Given the description of an element on the screen output the (x, y) to click on. 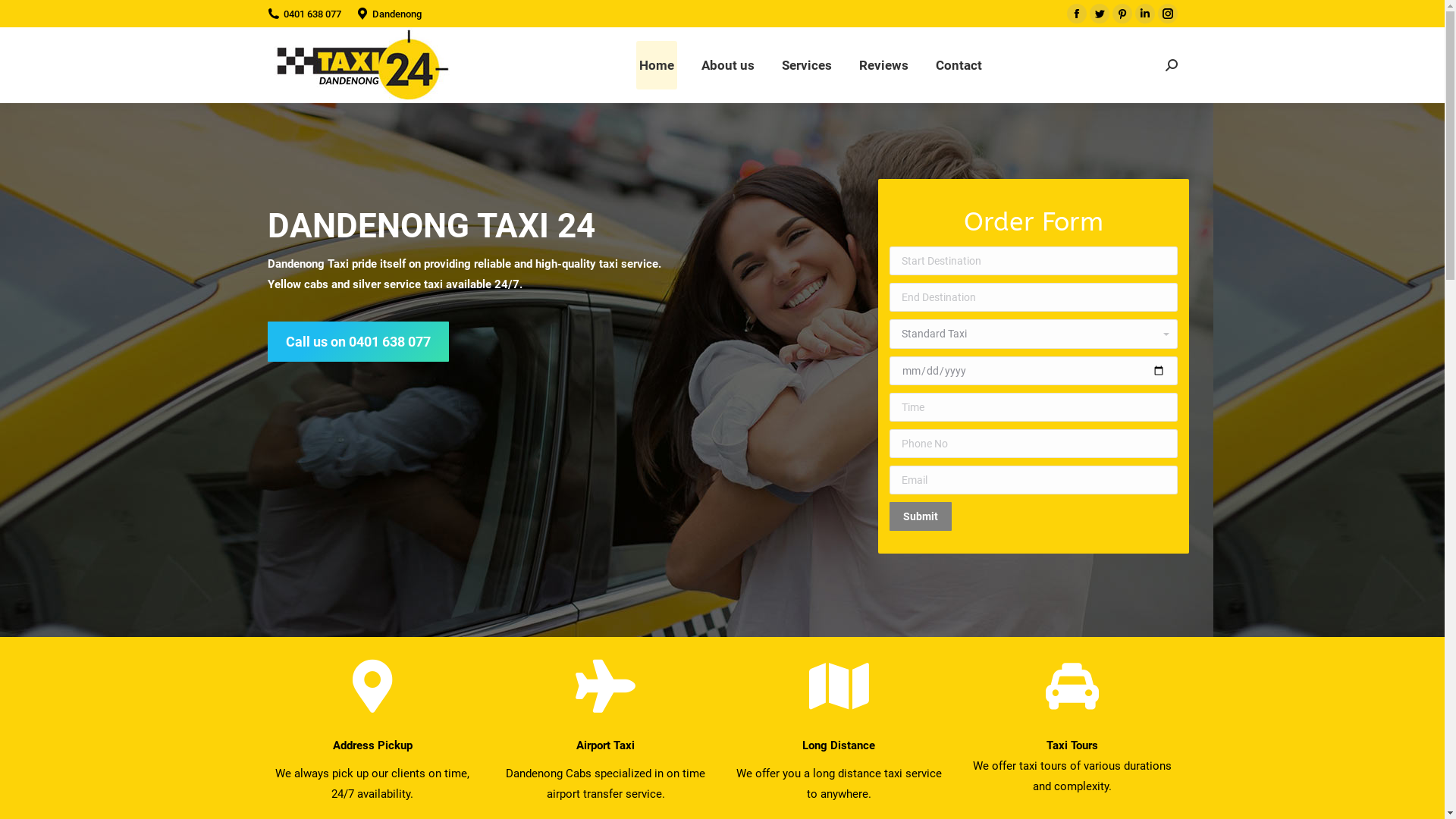
Services Element type: text (806, 64)
Instagram page opens in new window Element type: text (1166, 13)
Submit Element type: text (919, 516)
About us Element type: text (727, 64)
Linkedin page opens in new window Element type: text (1144, 13)
Facebook page opens in new window Element type: text (1075, 13)
Reviews Element type: text (883, 64)
Twitter page opens in new window Element type: text (1098, 13)
Pinterest page opens in new window Element type: text (1121, 13)
Go! Element type: text (23, 15)
Call us on 0401 638 077 Element type: text (357, 341)
Home Element type: text (656, 64)
Contact Element type: text (958, 64)
